Given the description of an element on the screen output the (x, y) to click on. 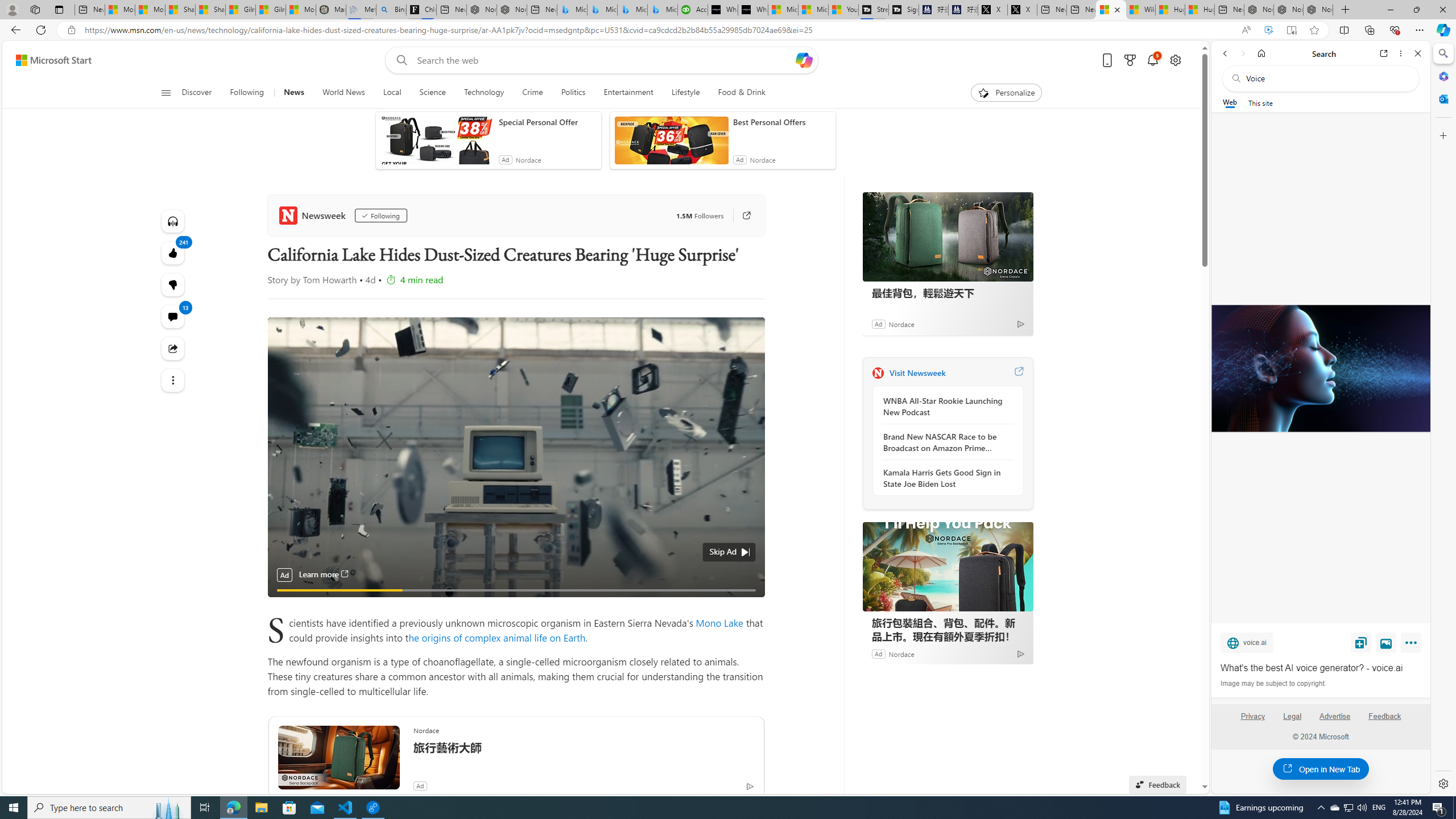
View image (1385, 642)
More (1413, 644)
Lifestyle (685, 92)
Newsweek (314, 215)
Dislike (172, 284)
Outlook (1442, 98)
See more (172, 380)
Shanghai, China weather forecast | Microsoft Weather (210, 9)
Streaming Coverage | T3 (873, 9)
Microsoft 365 (1442, 76)
Open link in new tab (1383, 53)
